Given the description of an element on the screen output the (x, y) to click on. 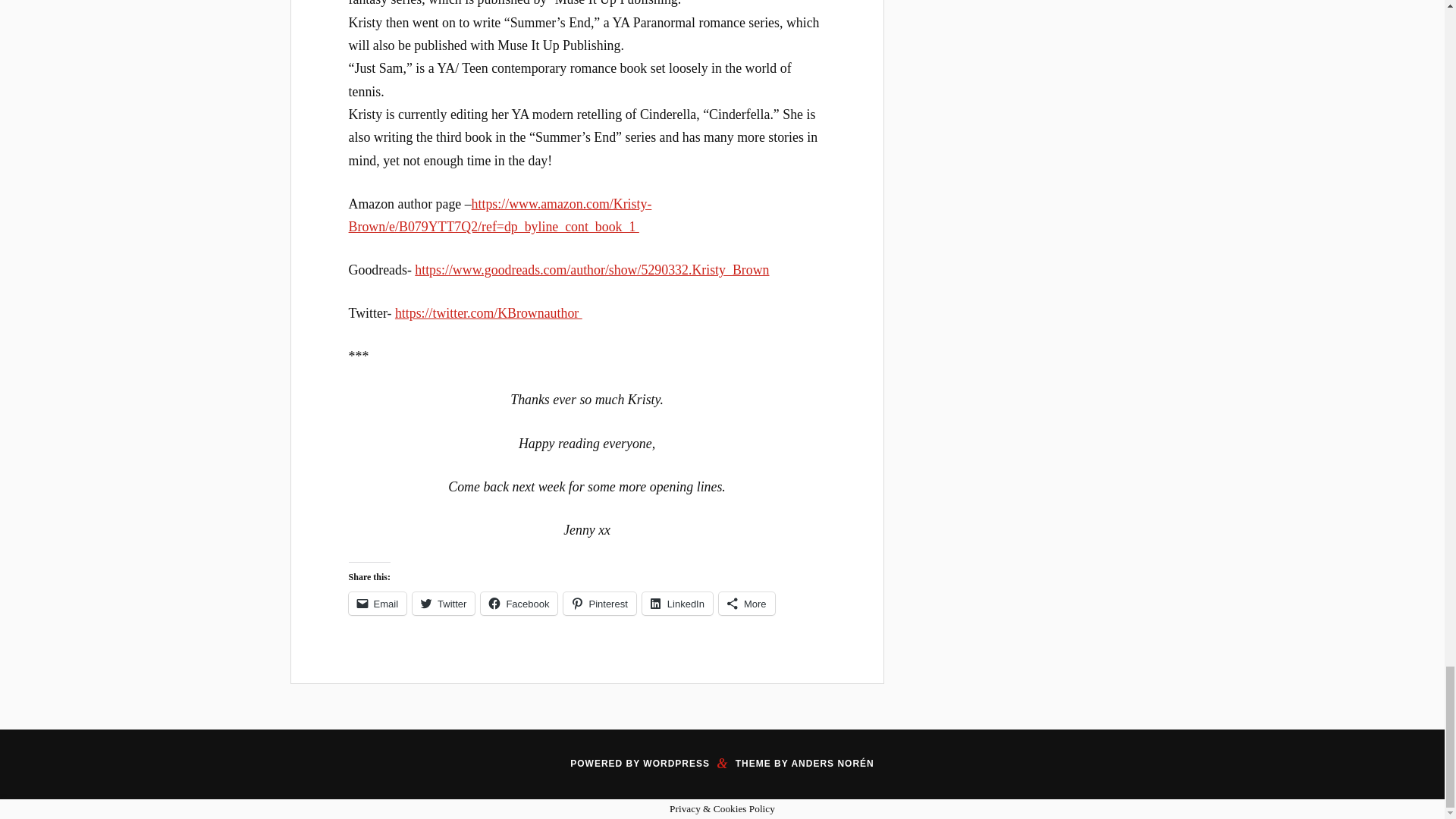
Click to email a link to a friend (378, 603)
Click to share on Facebook (518, 603)
Click to share on Pinterest (598, 603)
Click to share on LinkedIn (677, 603)
Email (378, 603)
Click to share on Twitter (443, 603)
